Given the description of an element on the screen output the (x, y) to click on. 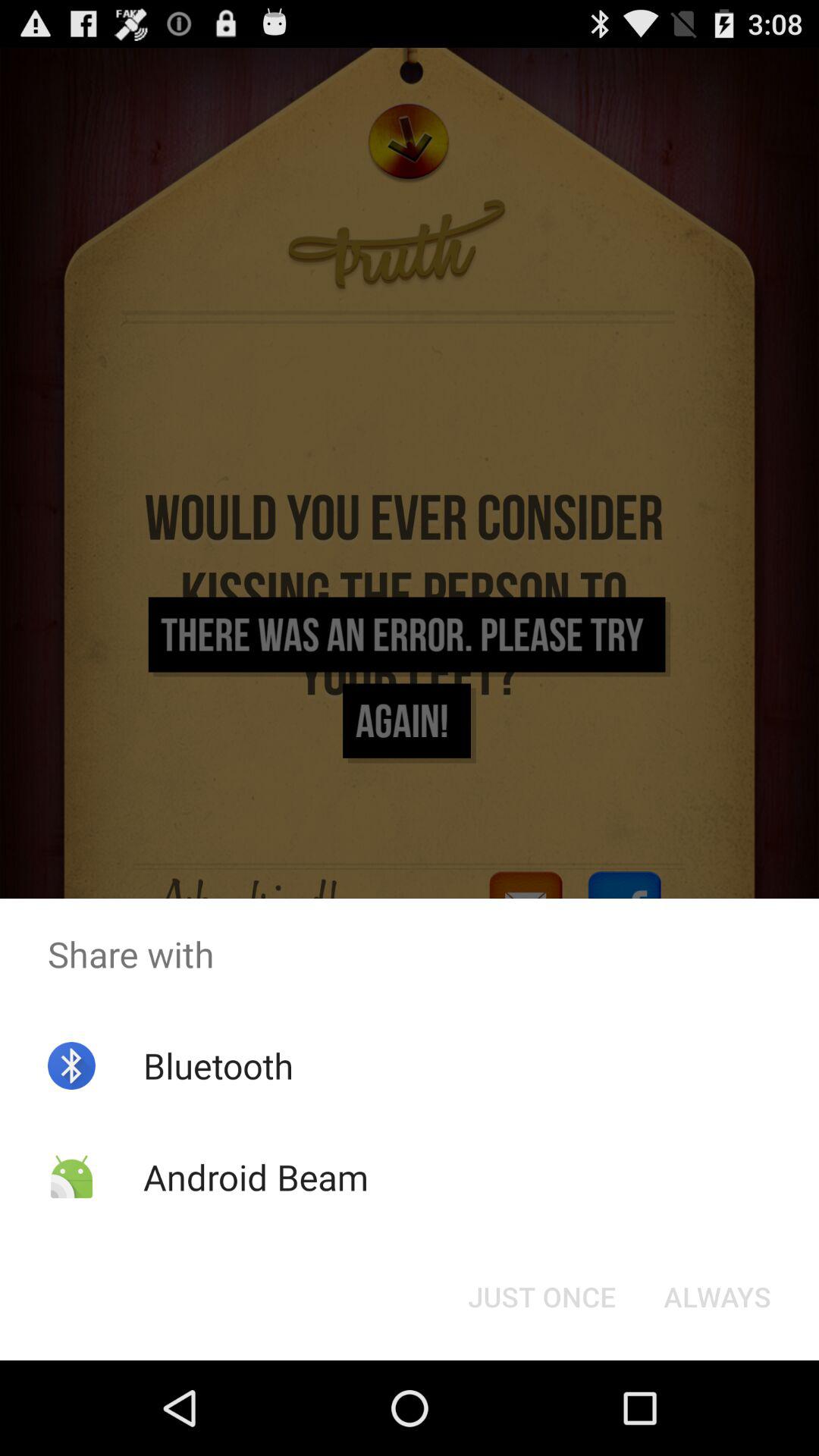
tap the bluetooth icon (218, 1065)
